Given the description of an element on the screen output the (x, y) to click on. 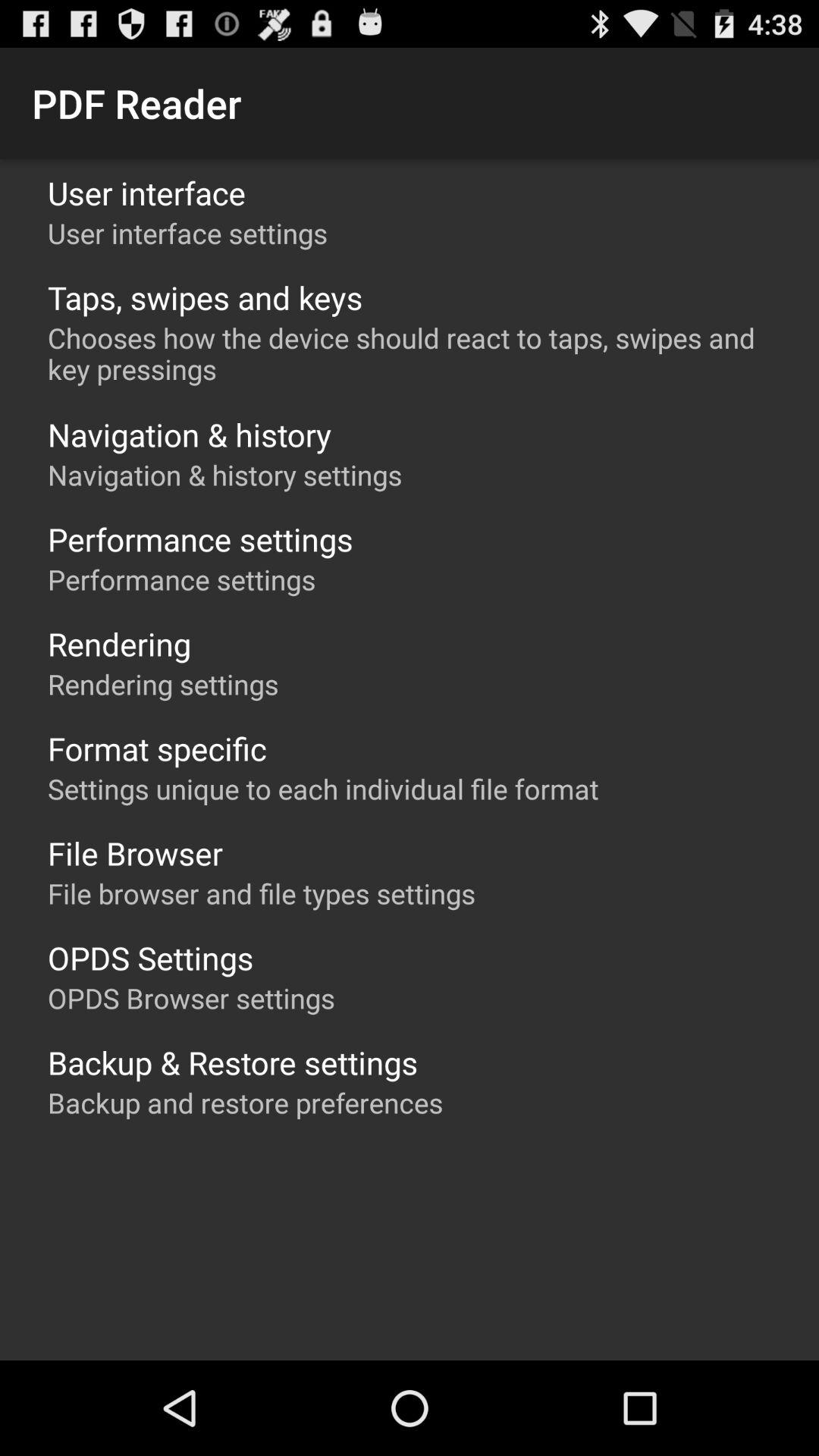
swipe to chooses how the app (417, 354)
